Given the description of an element on the screen output the (x, y) to click on. 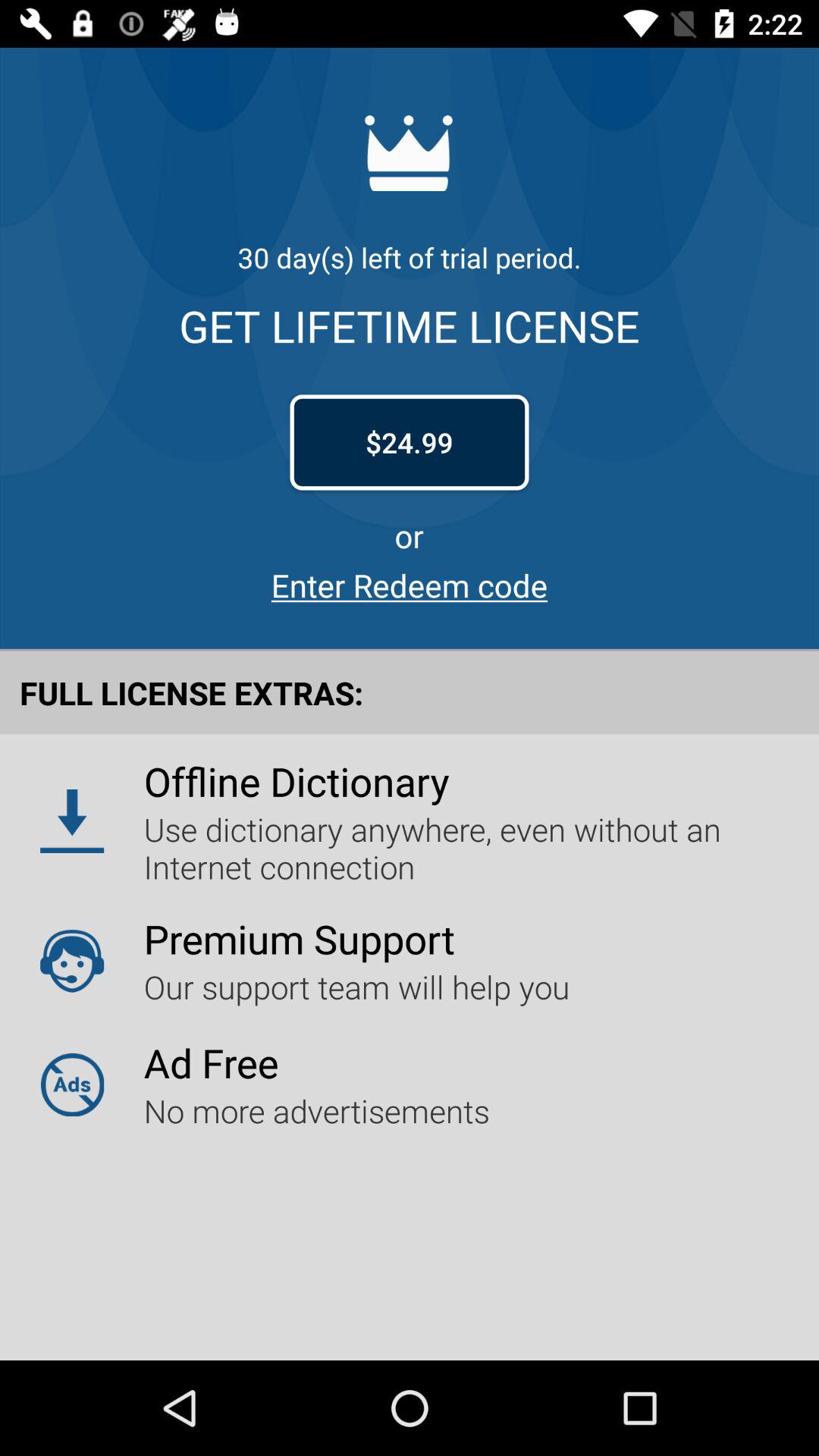
flip until $24.99 item (409, 442)
